Given the description of an element on the screen output the (x, y) to click on. 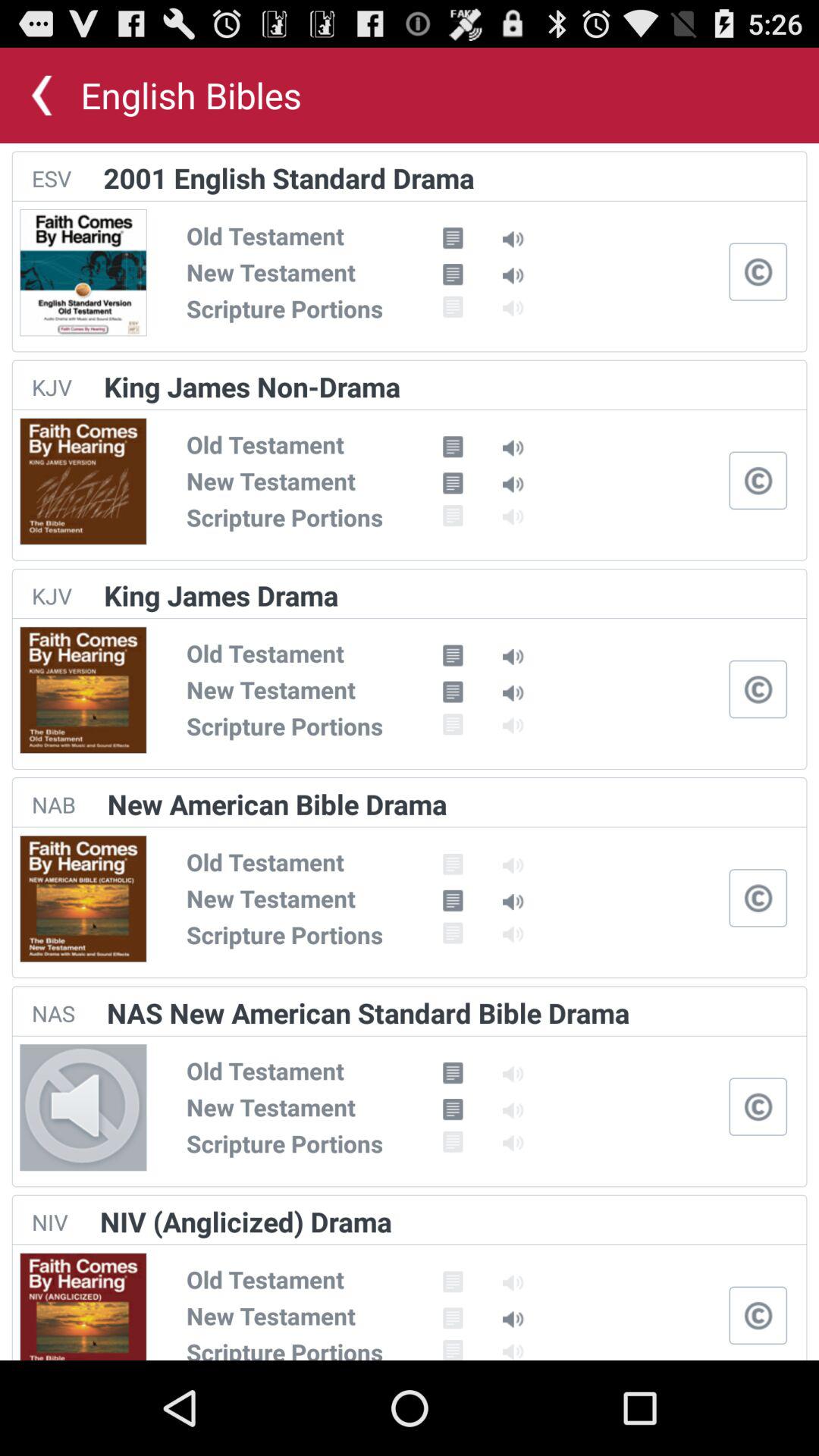
launch the item next to new american bible item (53, 804)
